Given the description of an element on the screen output the (x, y) to click on. 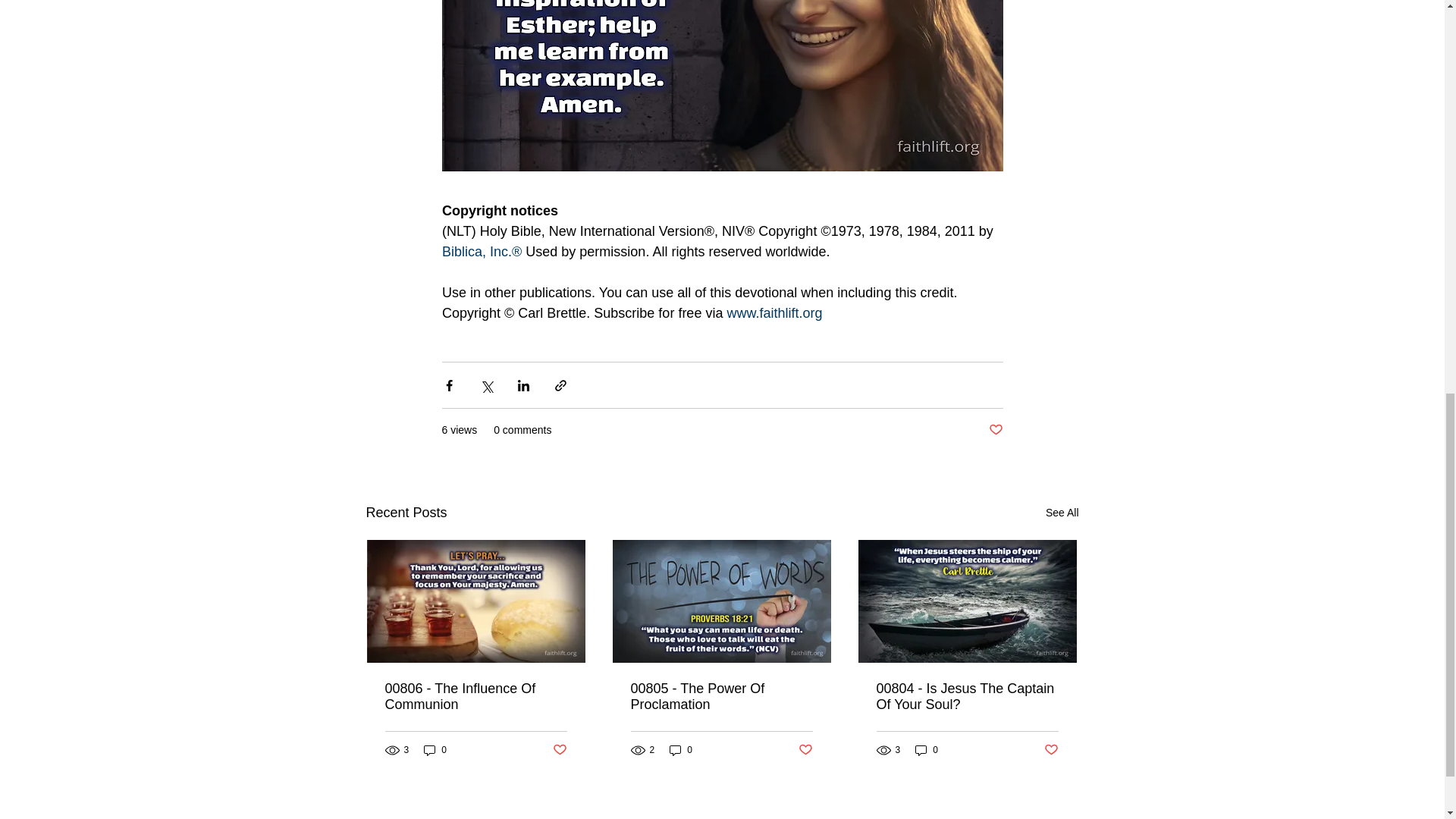
0 (926, 749)
Post not marked as liked (995, 430)
Post not marked as liked (558, 750)
0 (435, 749)
00806 - The Influence Of Communion (476, 696)
00804 - Is Jesus The Captain Of Your Soul? (967, 696)
Post not marked as liked (1050, 750)
0 (681, 749)
See All (1061, 513)
00805 - The Power Of Proclamation (721, 696)
